Given the description of an element on the screen output the (x, y) to click on. 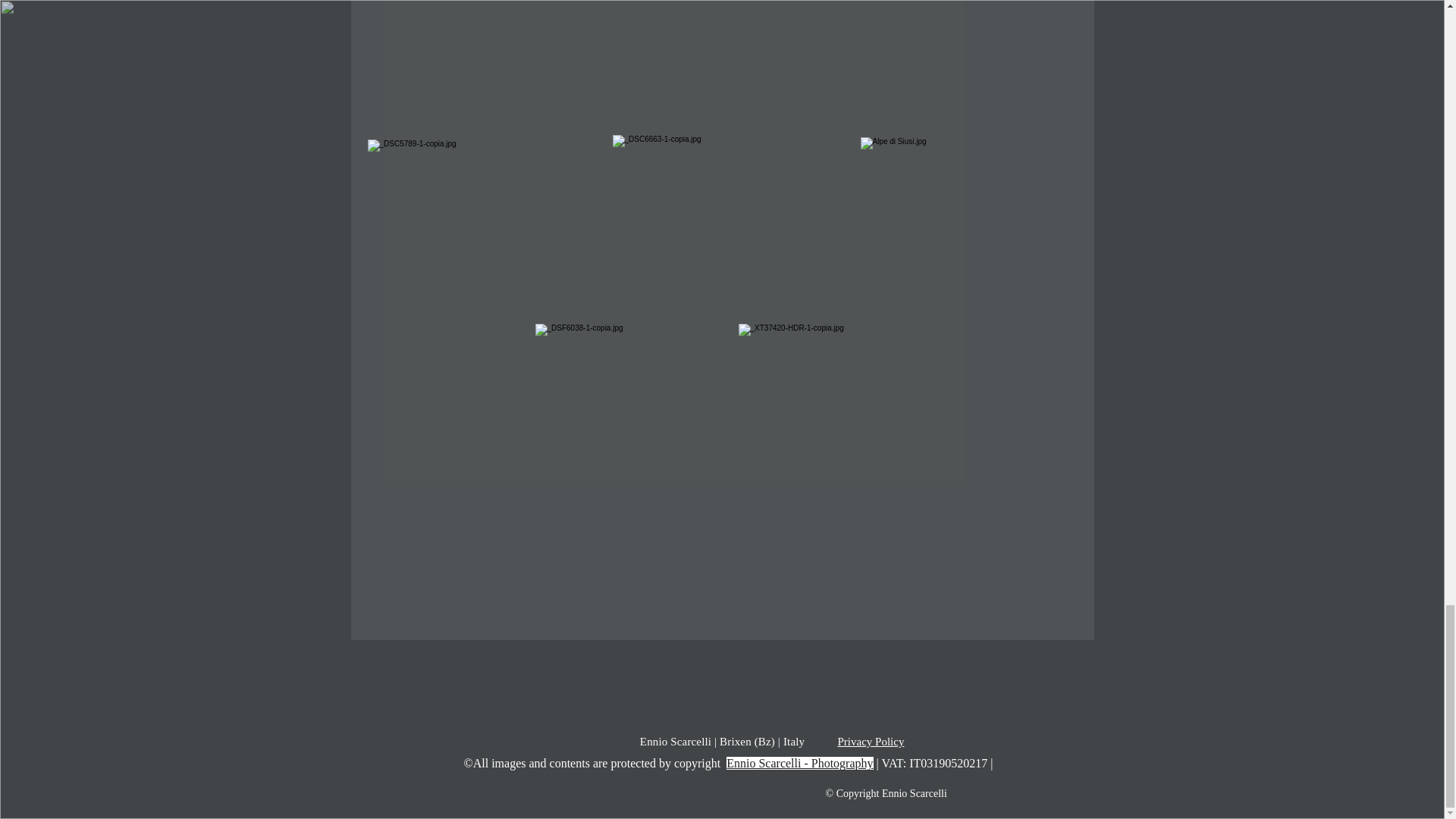
Privacy Policy (870, 741)
Ennio Scarcelli - Photography (799, 762)
